Given the description of an element on the screen output the (x, y) to click on. 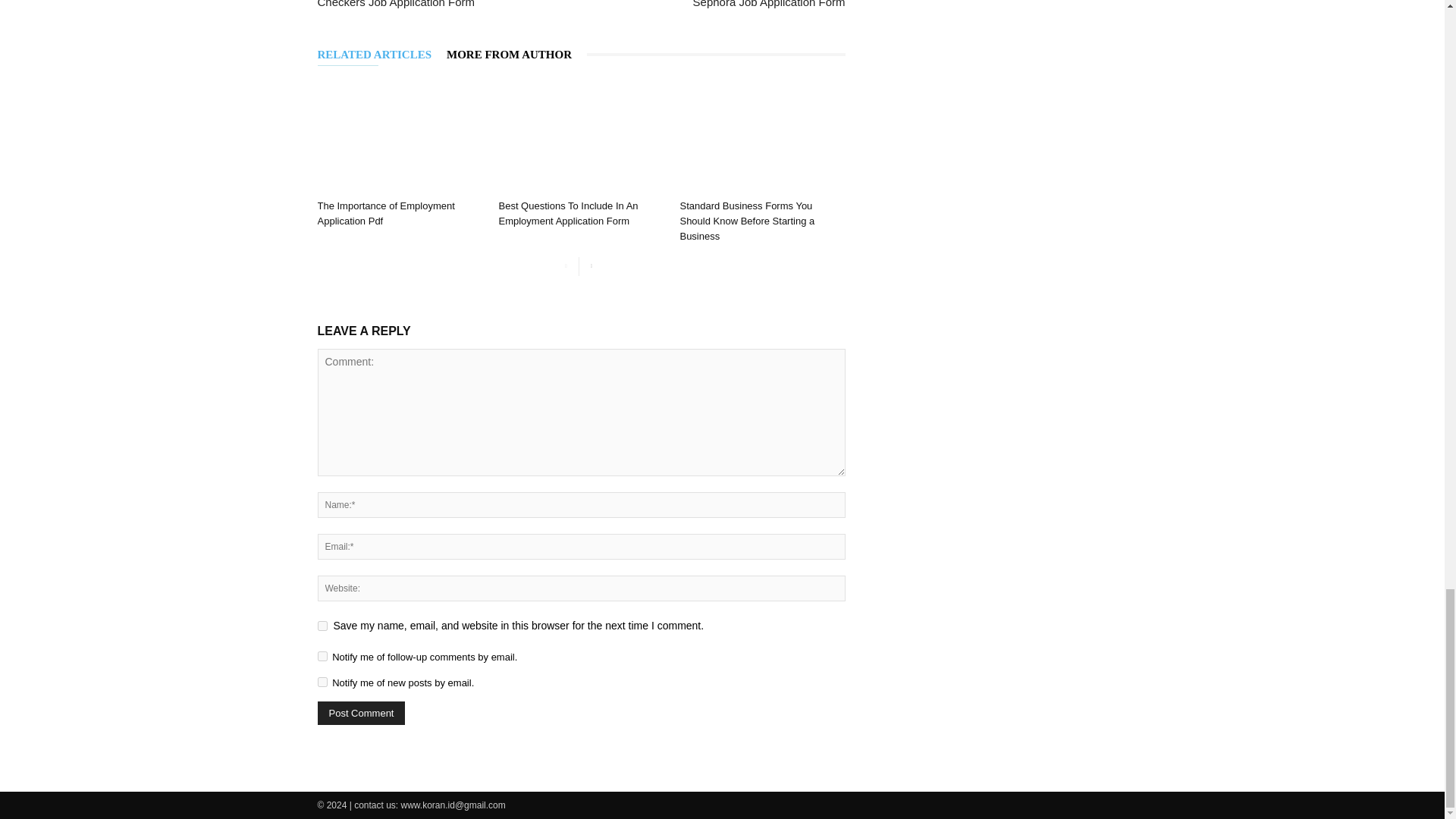
yes (321, 625)
subscribe (321, 655)
Post Comment (360, 712)
subscribe (321, 682)
